Given the description of an element on the screen output the (x, y) to click on. 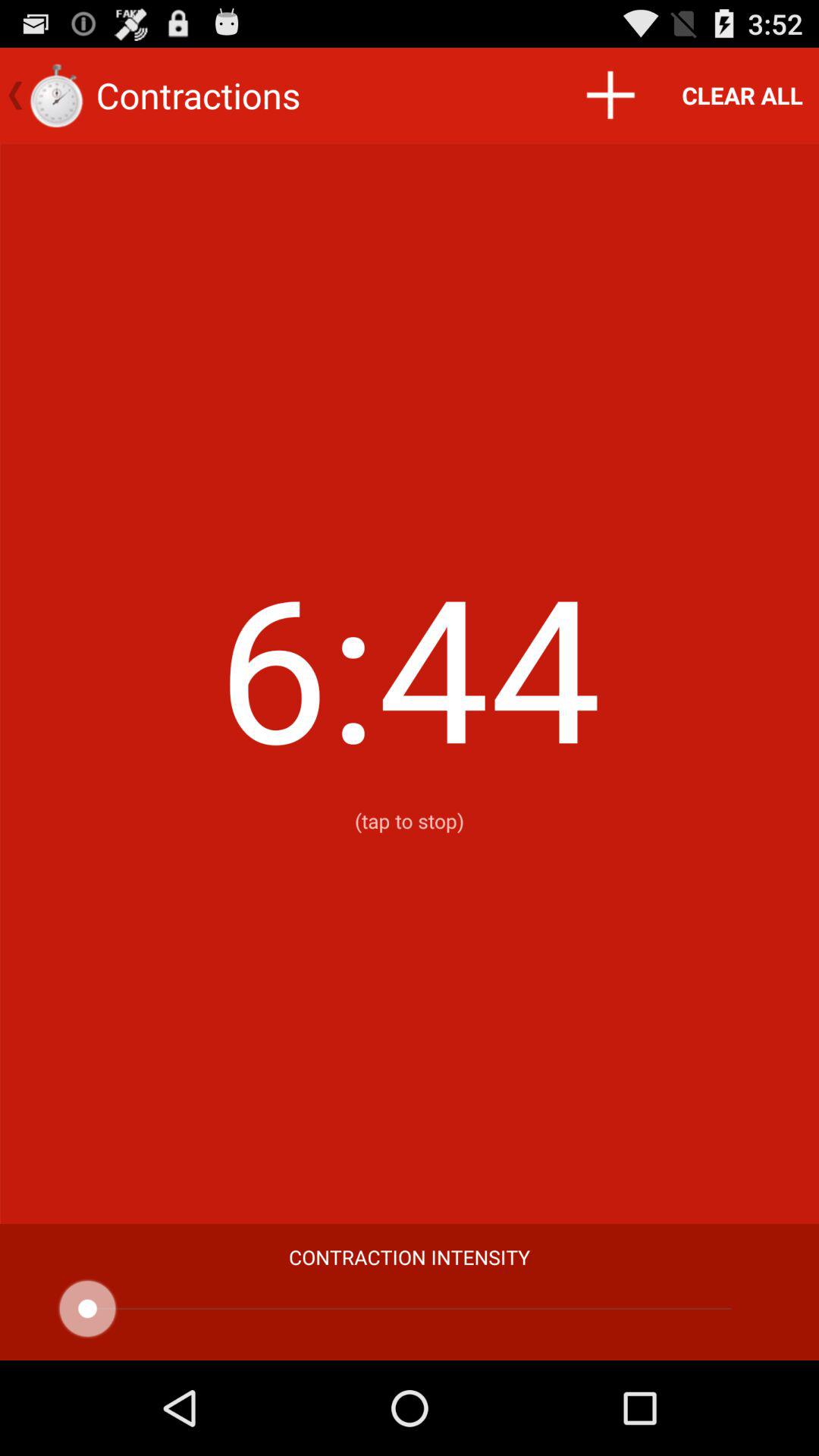
choose plus symbol (609, 95)
option right to addition symbol on top right (742, 95)
click on the icon which is to the left side of contractions (55, 95)
